Given the description of an element on the screen output the (x, y) to click on. 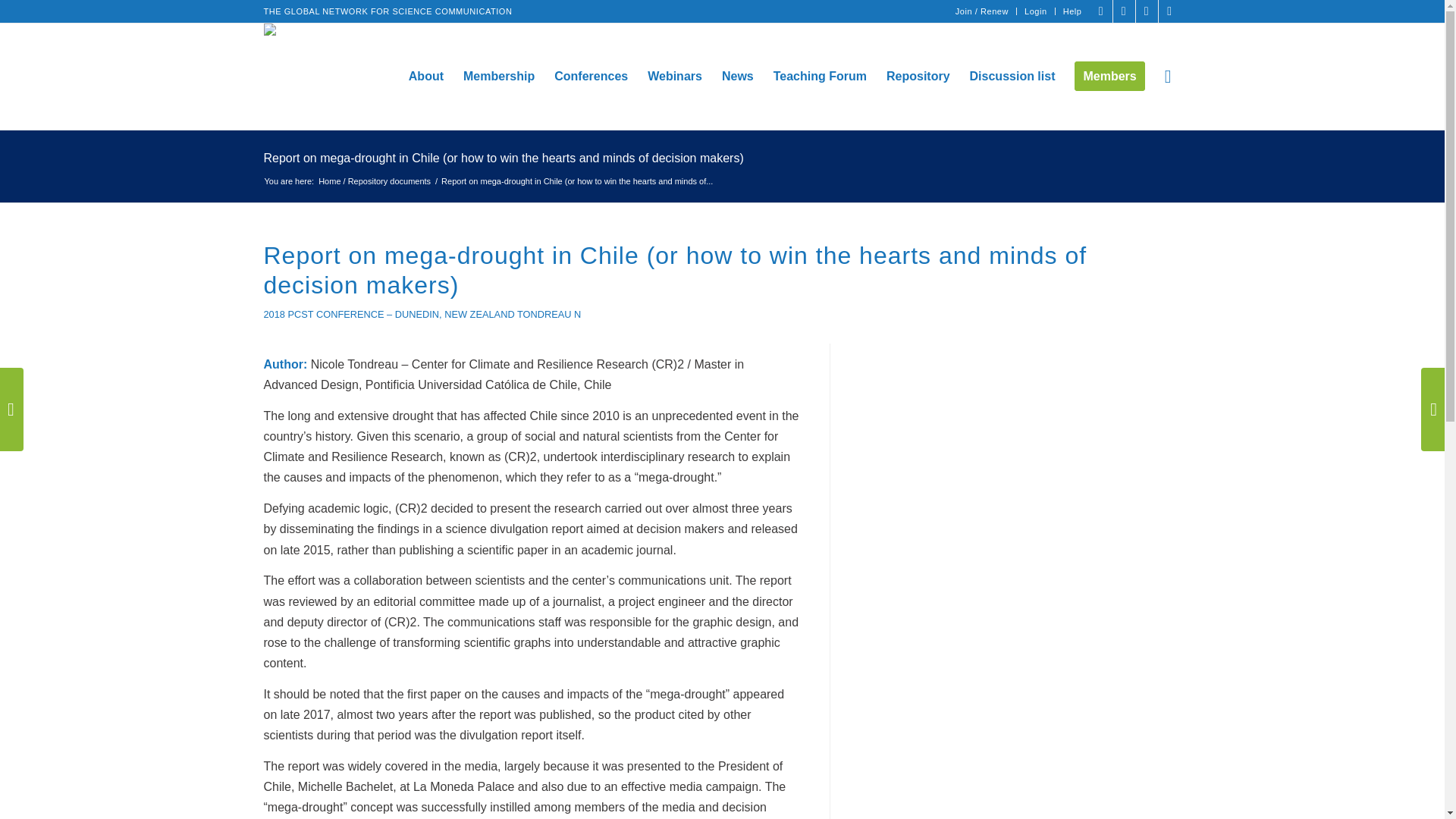
Help (1071, 11)
Teaching Forum (819, 76)
PCST Network (373, 173)
X (1124, 11)
LinkedIn (1146, 11)
Youtube (1169, 11)
Facebook (1101, 11)
Login (1035, 11)
